Given the description of an element on the screen output the (x, y) to click on. 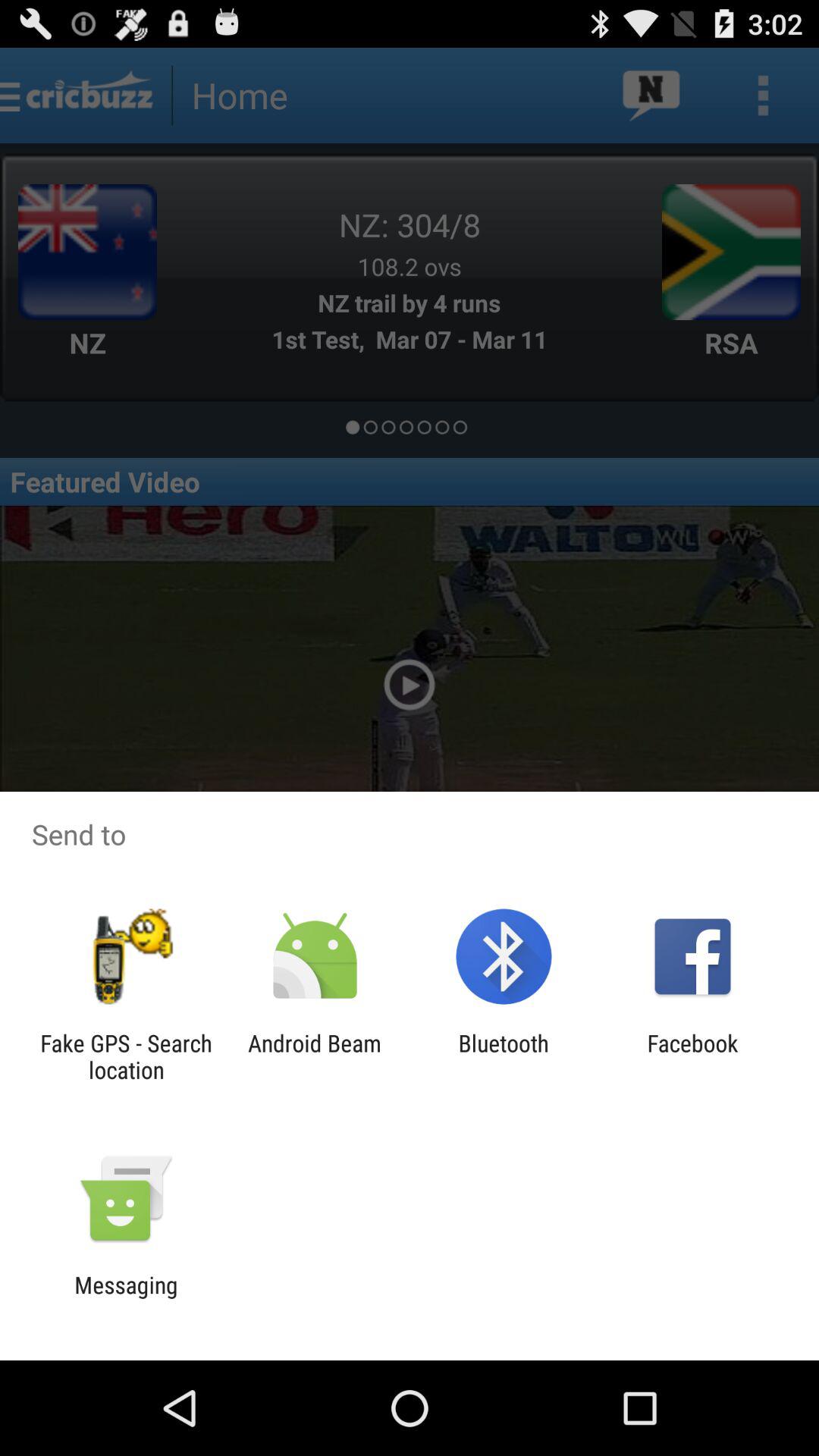
press the item to the right of the bluetooth (692, 1056)
